Given the description of an element on the screen output the (x, y) to click on. 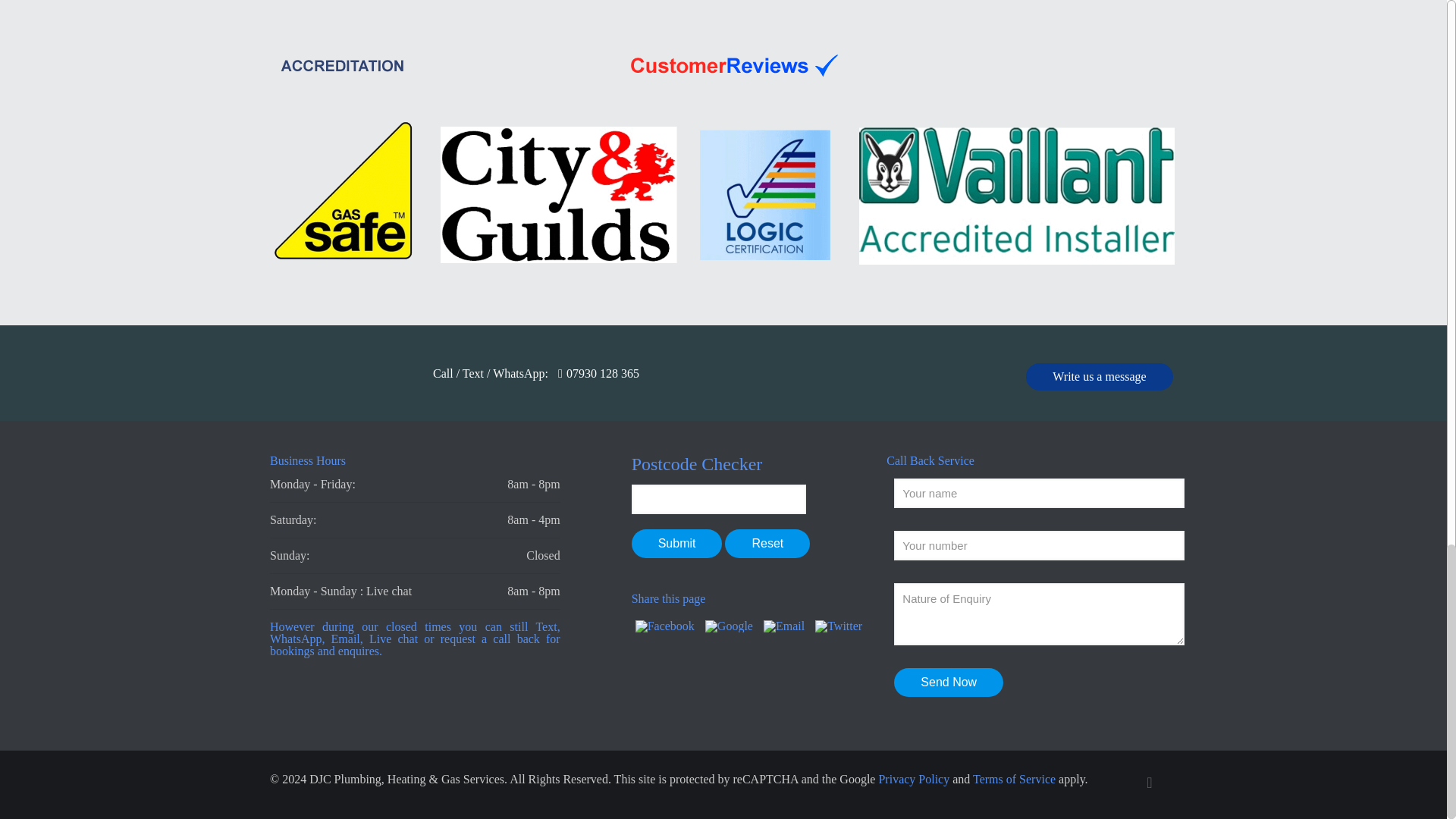
Reset (767, 543)
Submit (676, 543)
Send Now (948, 682)
